Given the description of an element on the screen output the (x, y) to click on. 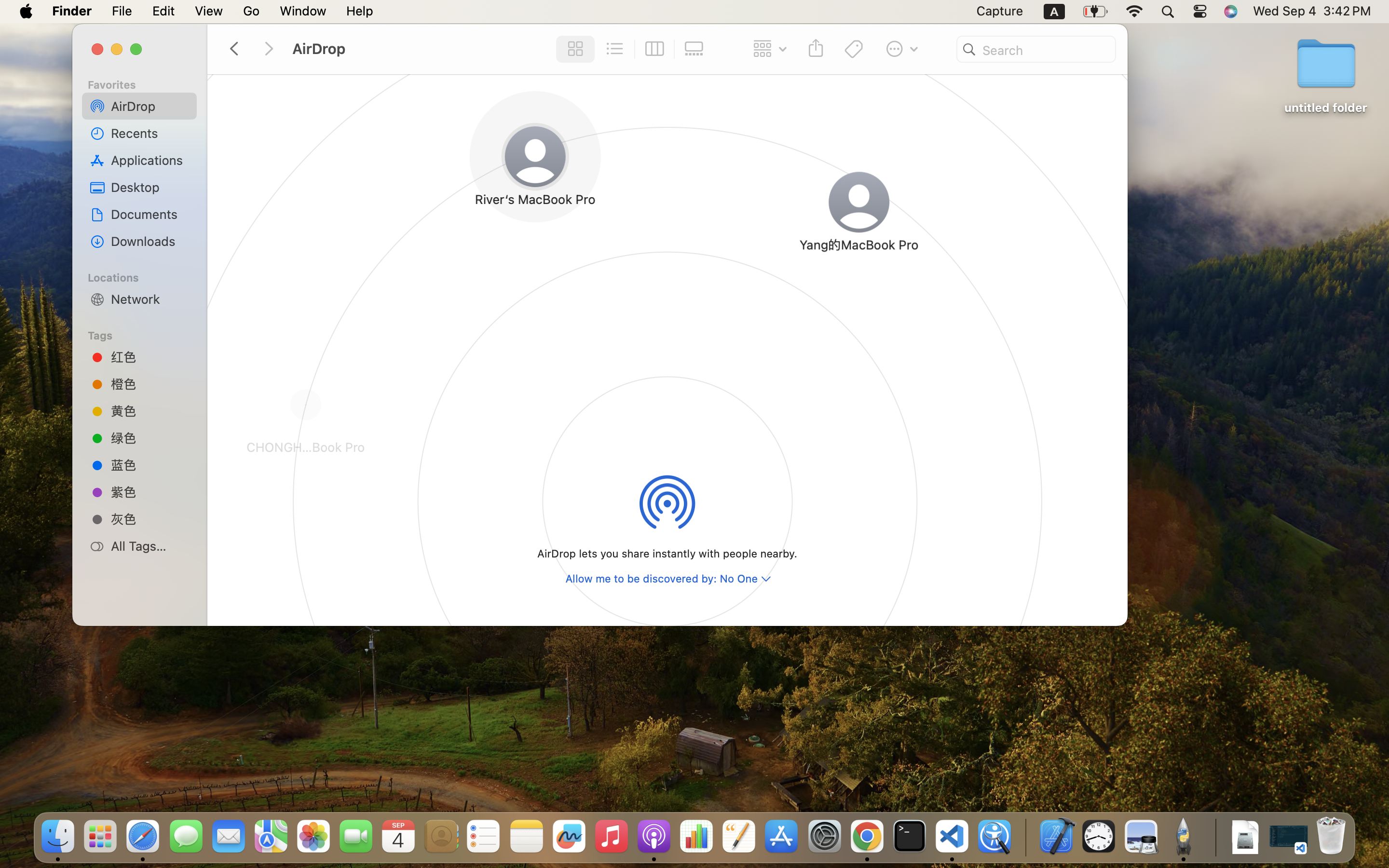
Tags Element type: AXStaticText (144, 334)
River‘s MacBook Pro Element type: AXStaticText (508, 204)
紫色 Element type: AXStaticText (149, 491)
Documents Element type: AXStaticText (149, 213)
Recents Element type: AXStaticText (149, 132)
